Given the description of an element on the screen output the (x, y) to click on. 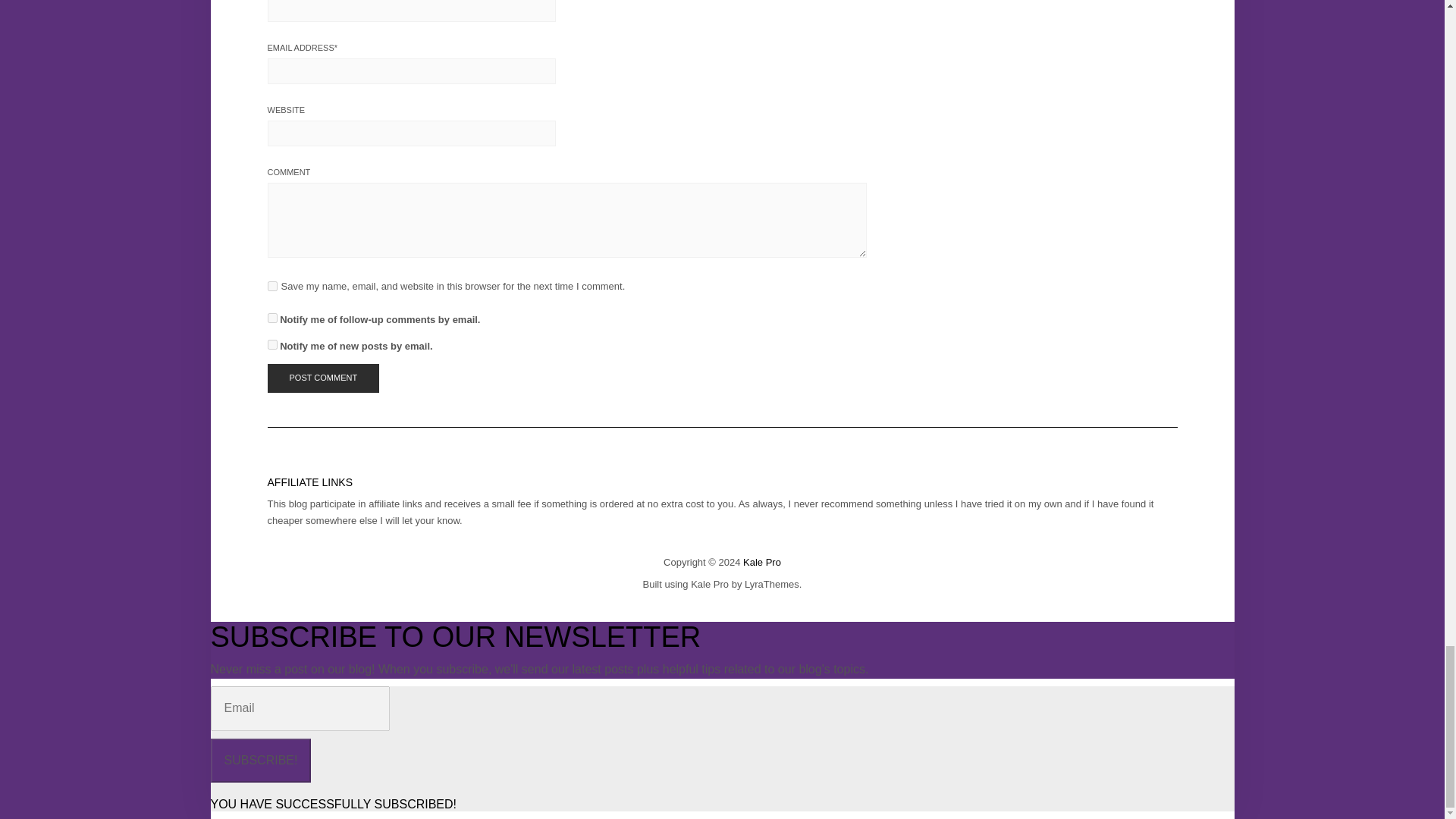
subscribe (271, 344)
Post Comment (322, 378)
subscribe (271, 317)
yes (271, 286)
